Given the description of an element on the screen output the (x, y) to click on. 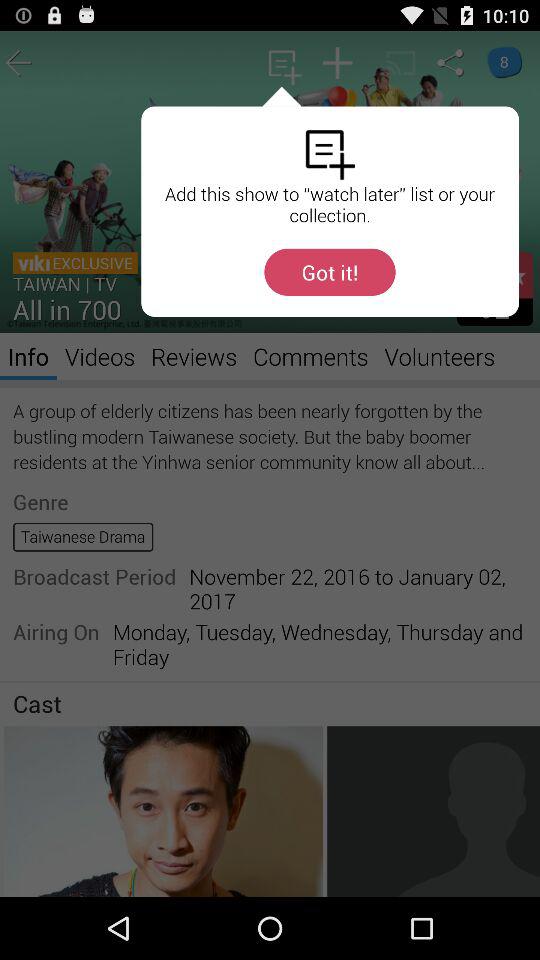
click the item at the center (270, 463)
